Given the description of an element on the screen output the (x, y) to click on. 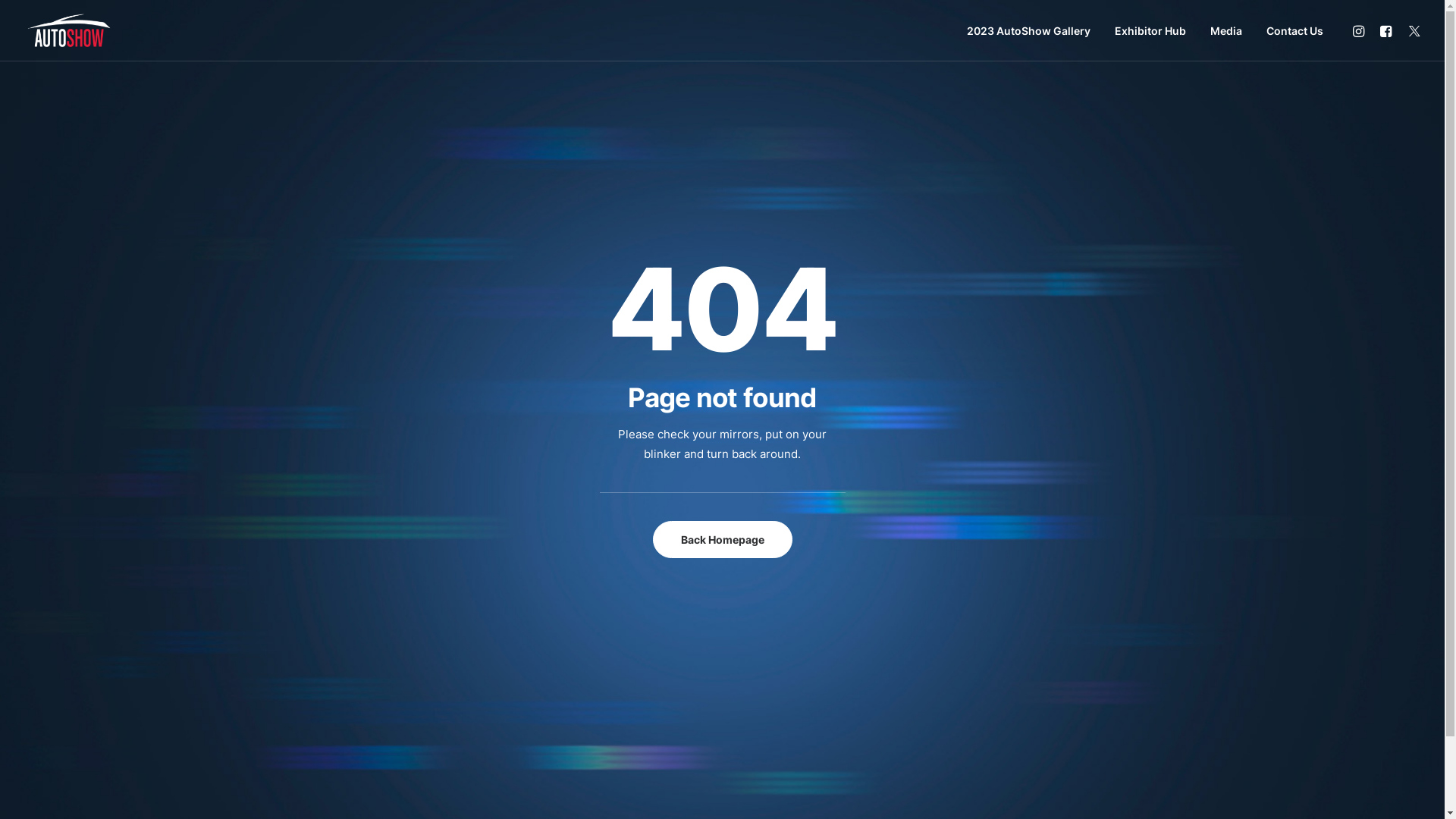
Media Element type: text (1225, 30)
Contact Us Element type: text (1289, 30)
2023 AutoShow Gallery Element type: text (1027, 30)
Exhibitor Hub Element type: text (1150, 30)
Back Homepage Element type: text (721, 538)
